Given the description of an element on the screen output the (x, y) to click on. 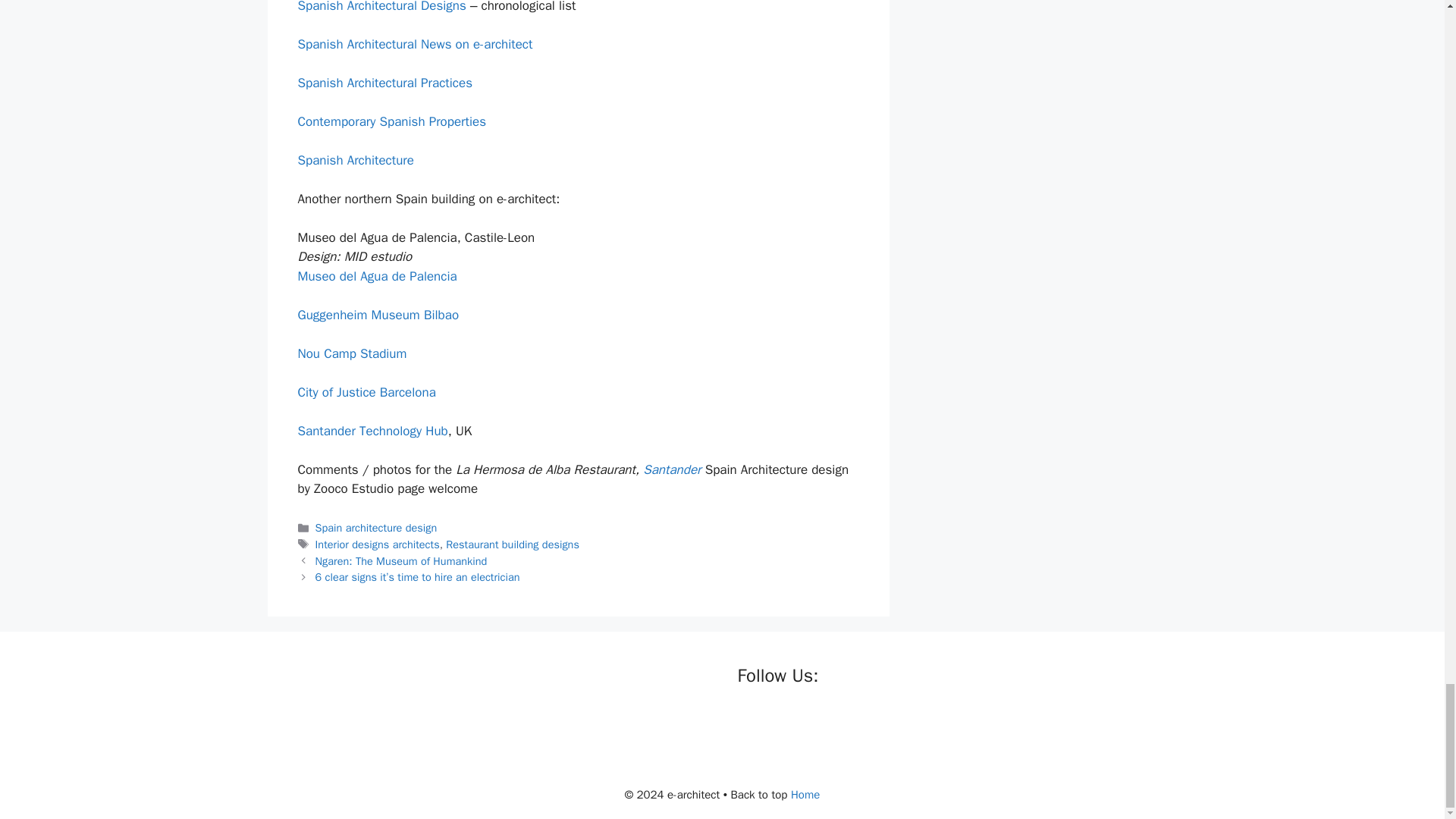
Spanish Architectural Practices (384, 82)
facebook (749, 722)
twitter (781, 722)
linkedin (811, 722)
instagram (842, 722)
Spanish Architectural News on e-architect (414, 44)
Spanish Architectural Designs (381, 6)
